Given the description of an element on the screen output the (x, y) to click on. 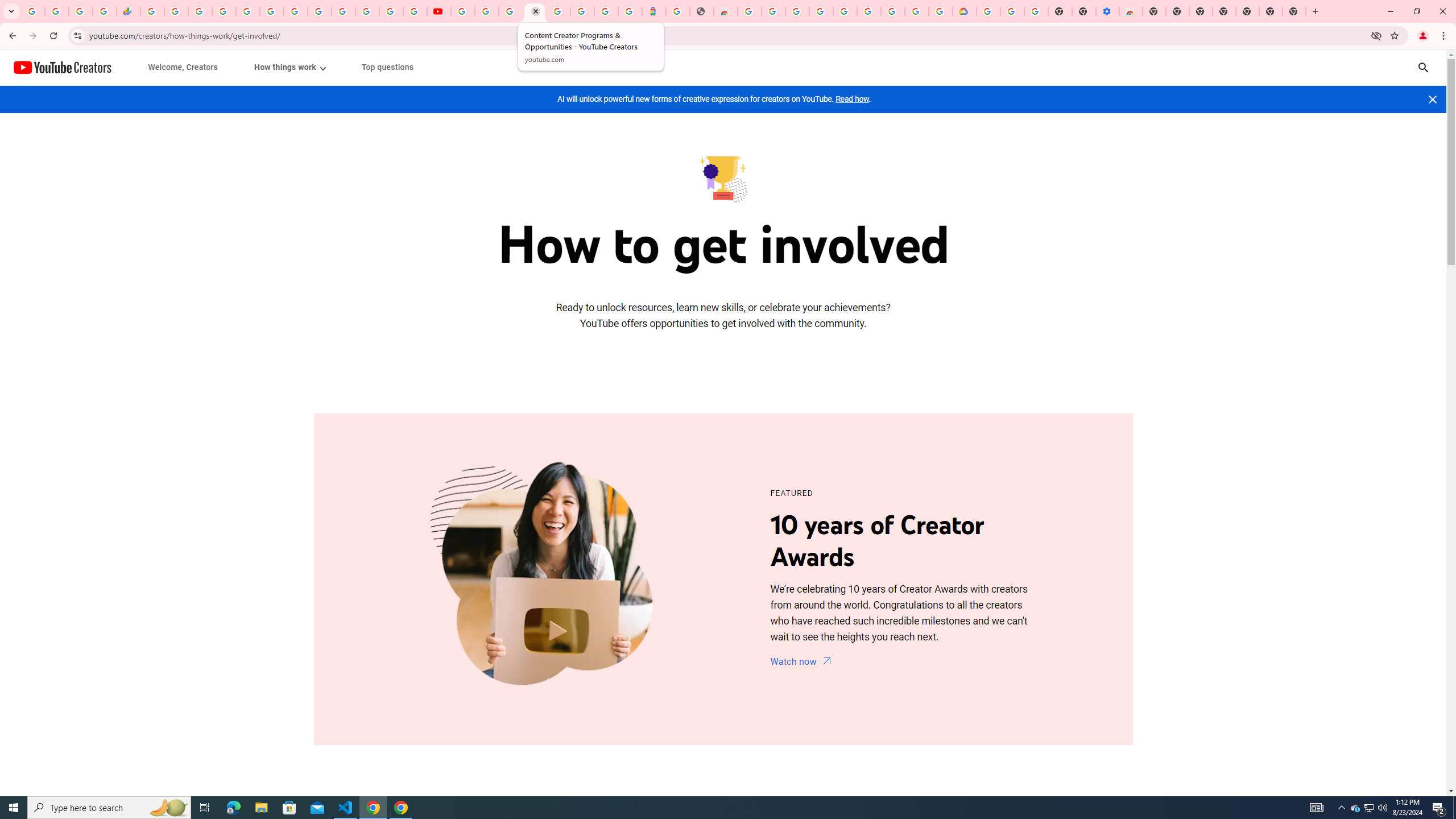
Sign in - Google Accounts (223, 11)
YouTube Creators (62, 67)
1 (289, 67)
Atour Hotel - Google hotels (654, 11)
Home page (62, 67)
JUMP TO CONTENT (118, 67)
Watch now (802, 662)
Create your Google Account (510, 11)
